Given the description of an element on the screen output the (x, y) to click on. 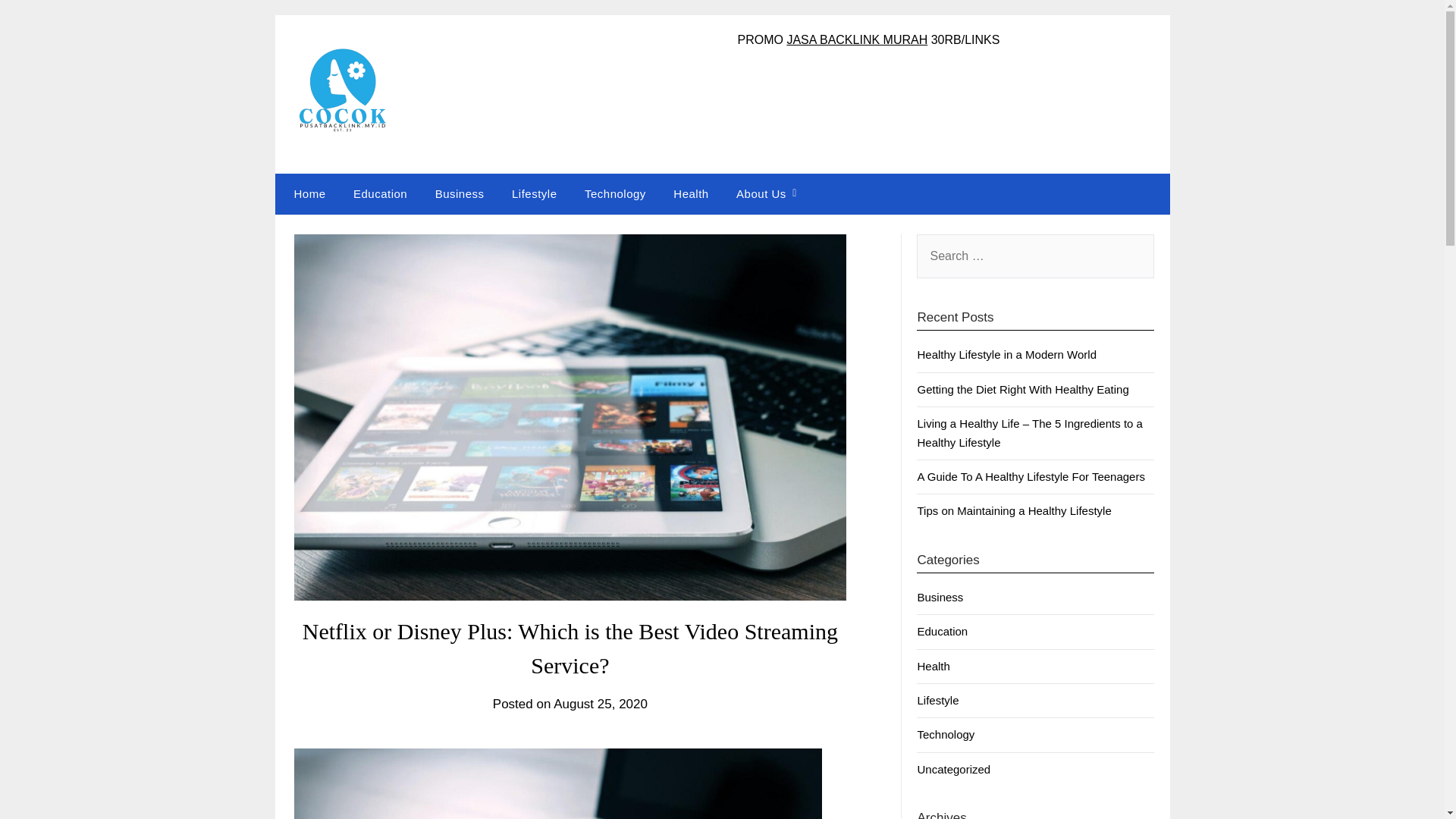
Uncategorized (953, 768)
Hulu Netflix image (558, 783)
Tips on Maintaining a Healthy Lifestyle (1013, 510)
Education (379, 193)
JASA BACKLINK MURAH (856, 39)
Lifestyle (937, 699)
Technology (615, 193)
About Us (760, 193)
Search (38, 22)
Education (942, 631)
Health (933, 666)
Home (306, 193)
Healthy Lifestyle in a Modern World (1006, 354)
Health (690, 193)
